Given the description of an element on the screen output the (x, y) to click on. 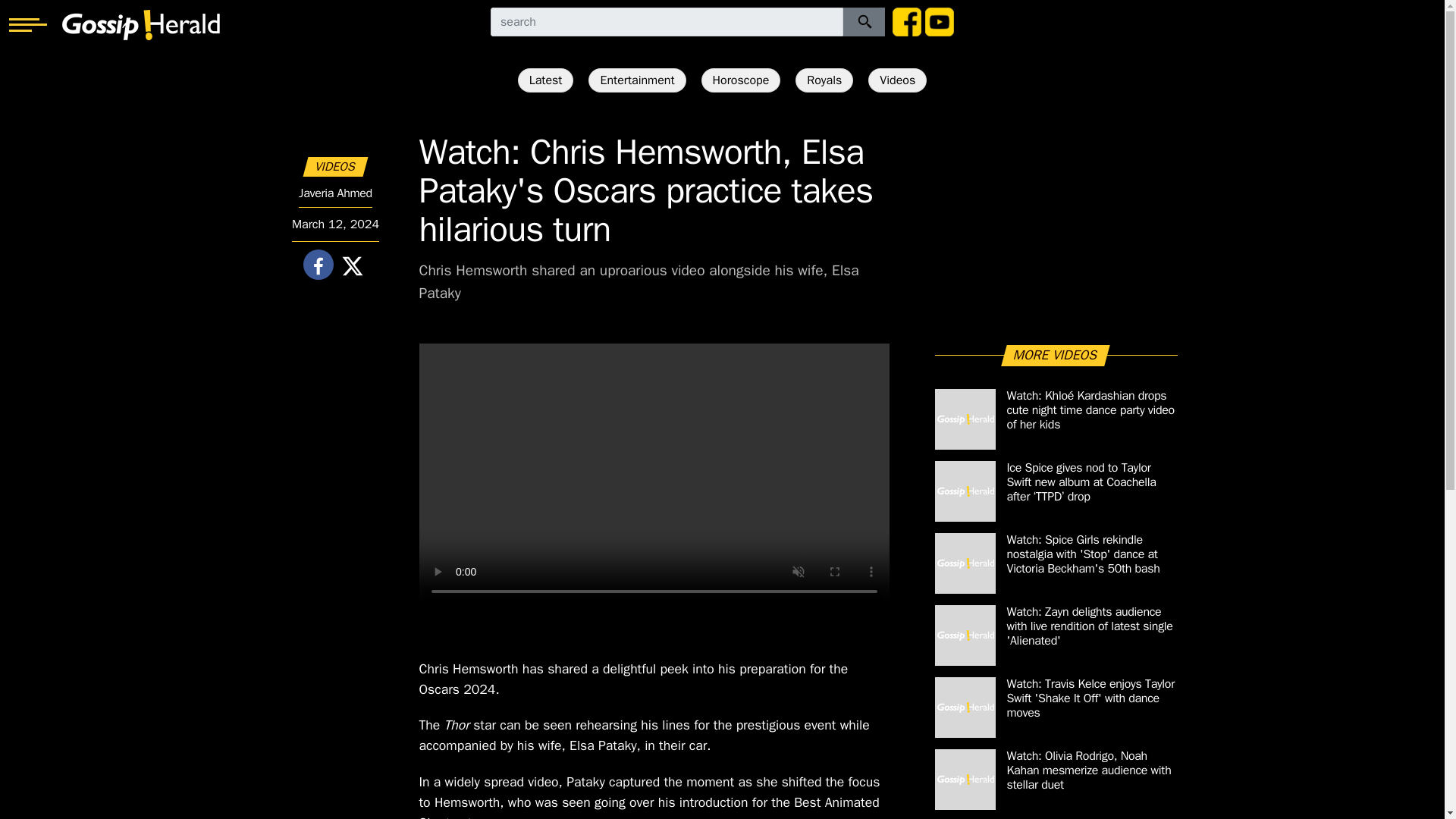
Royals (823, 79)
Horoscope (740, 79)
Latest News (545, 79)
Entertainment (636, 79)
Gossip Herald (140, 23)
Horoscope (740, 79)
Latest (545, 79)
Entertainment (636, 79)
Gossip Herald (140, 24)
VIDEOS (335, 166)
